Given the description of an element on the screen output the (x, y) to click on. 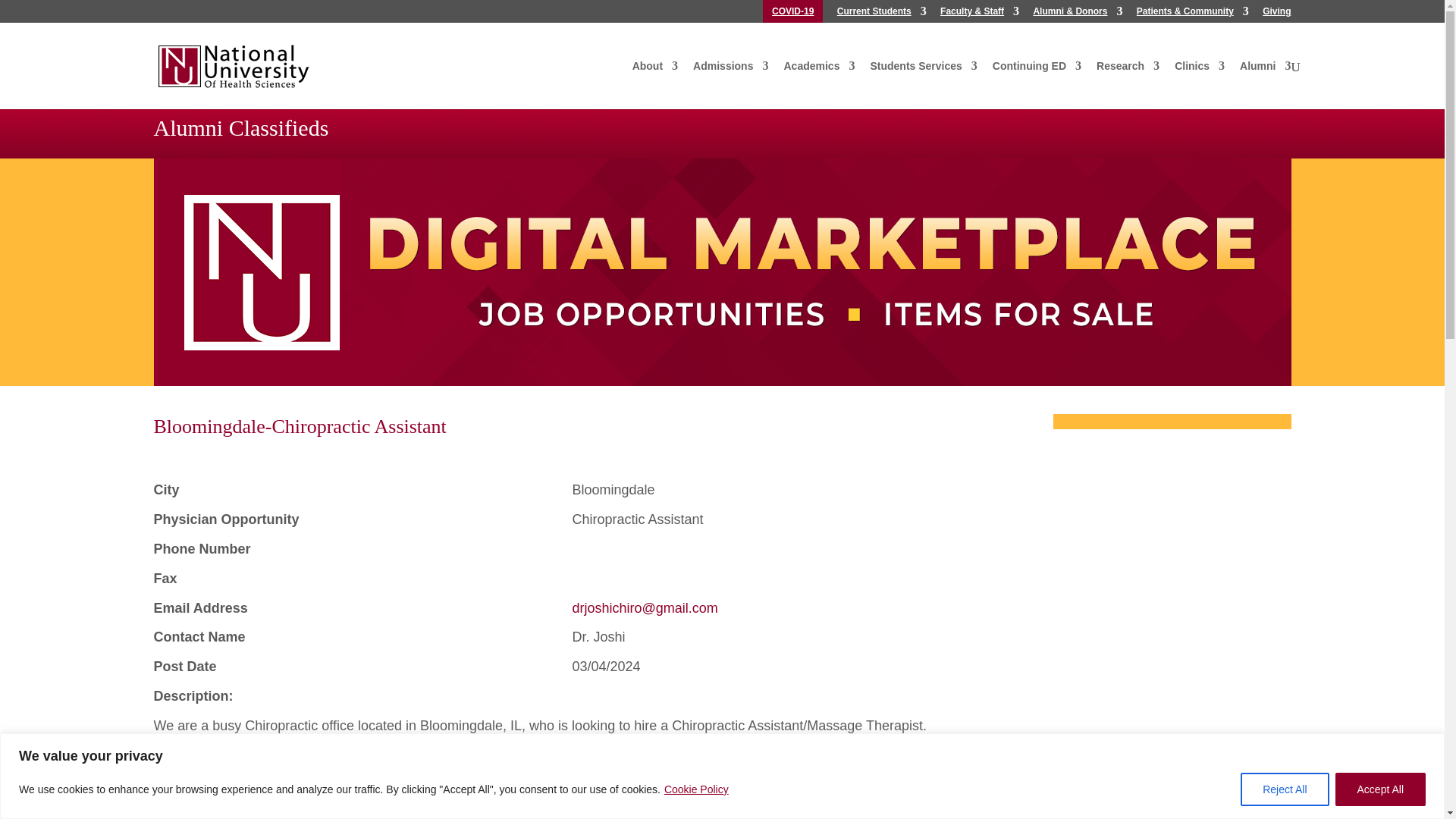
Cookie Policy (696, 789)
Reject All (1283, 788)
Giving (1276, 14)
COVID-19 (792, 14)
Accept All (1380, 788)
About (654, 73)
Current Students (881, 14)
